Given the description of an element on the screen output the (x, y) to click on. 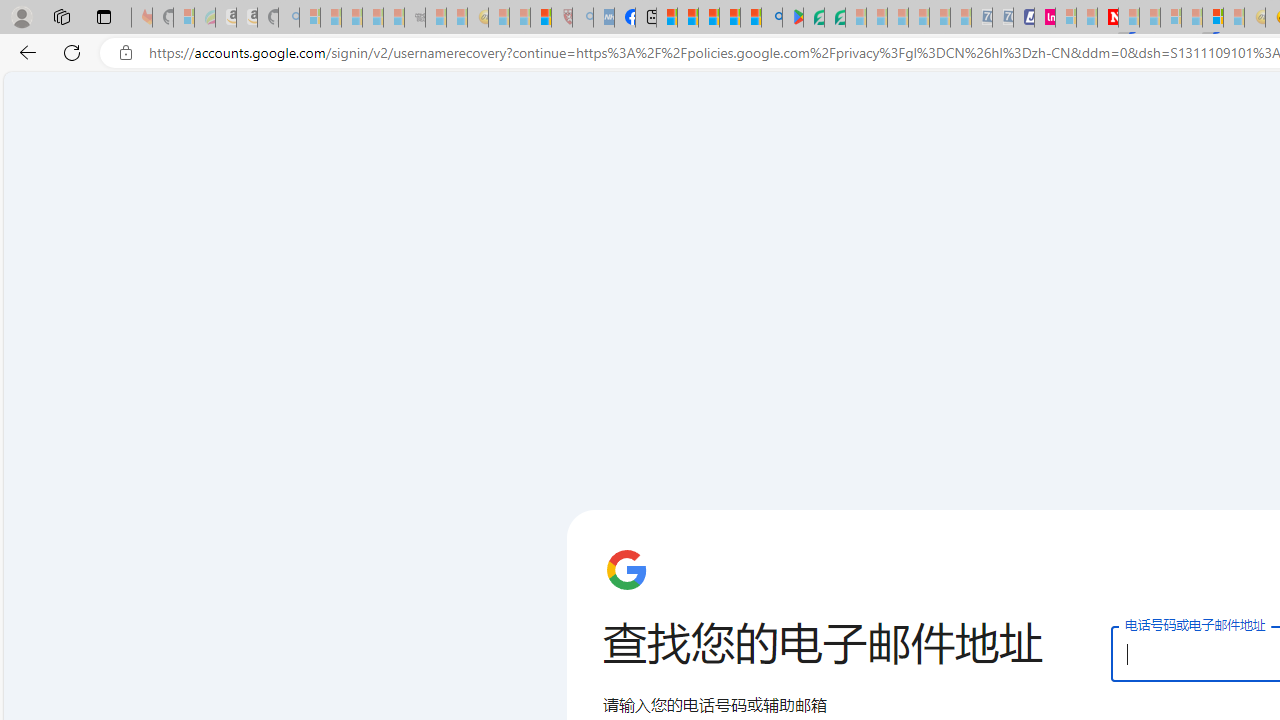
Jobs - lastminute.com Investor Portal (1044, 17)
Bluey: Let's Play! - Apps on Google Play (792, 17)
Pets - MSN (729, 17)
